Given the description of an element on the screen output the (x, y) to click on. 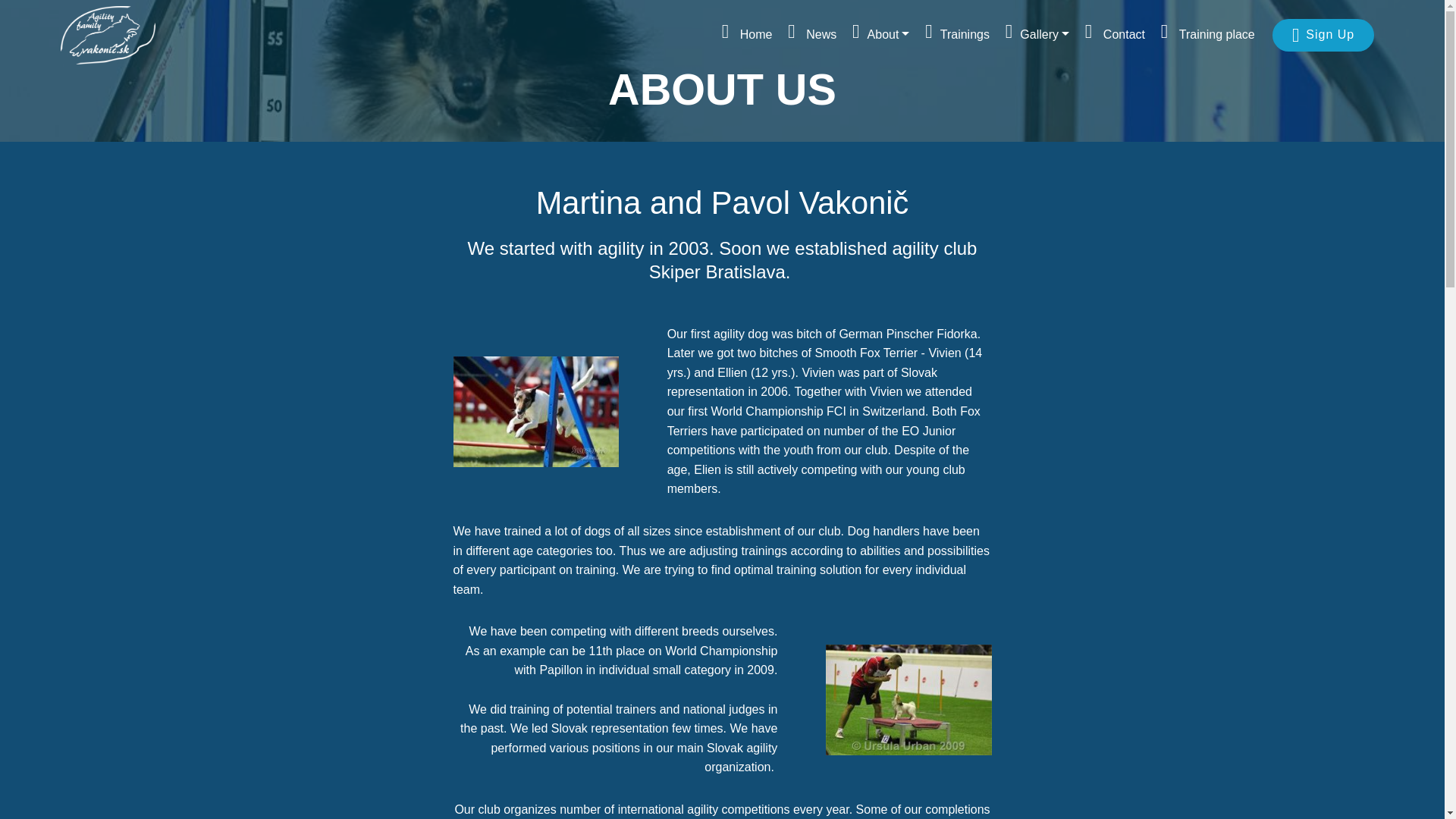
Contact (1114, 34)
Home (747, 34)
Sign Up (1323, 34)
Gallery (1037, 34)
News (811, 34)
Trainings (957, 34)
Training place (1207, 34)
About (879, 34)
